Given the description of an element on the screen output the (x, y) to click on. 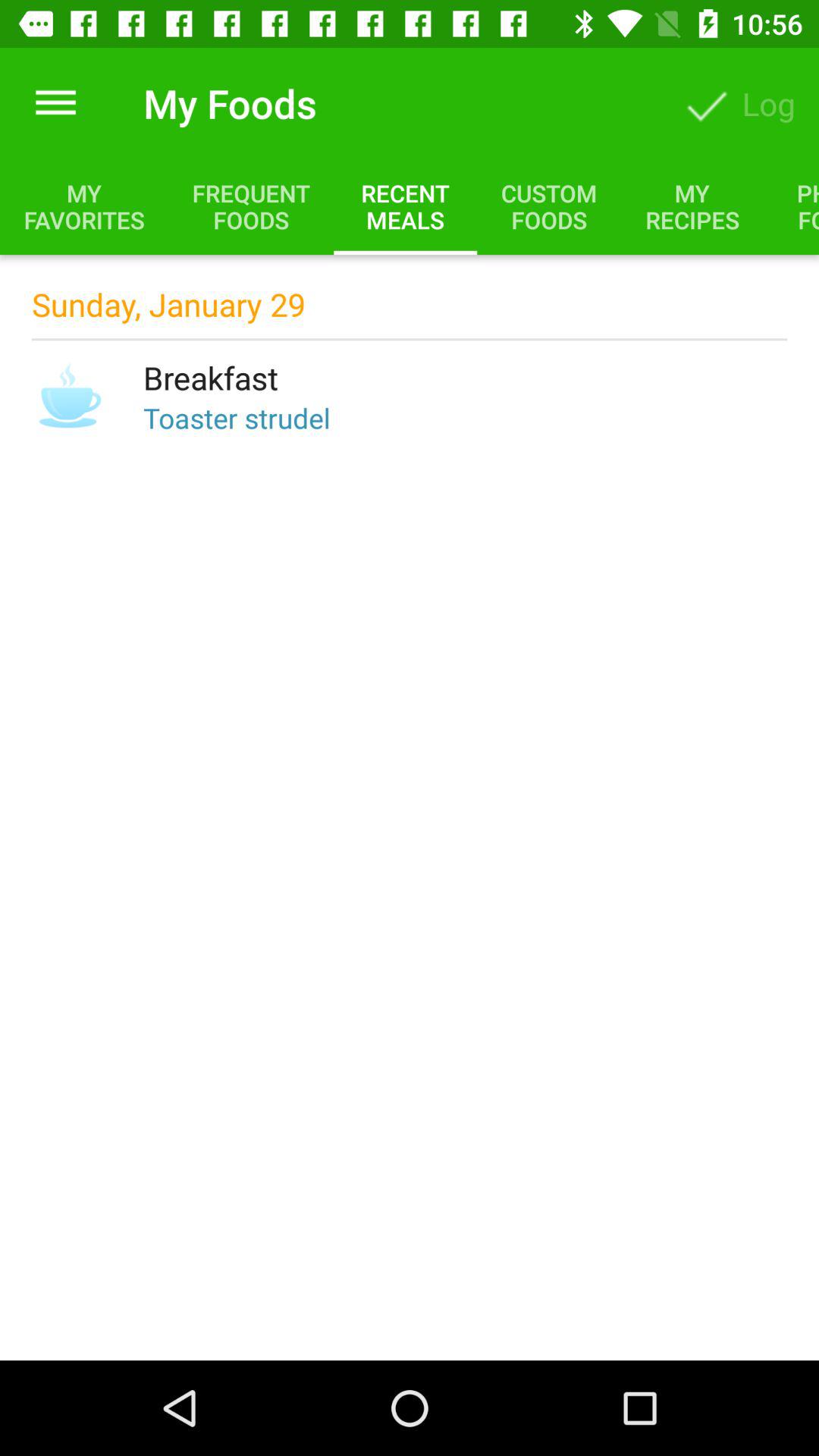
press icon above my
favorites (55, 103)
